Given the description of an element on the screen output the (x, y) to click on. 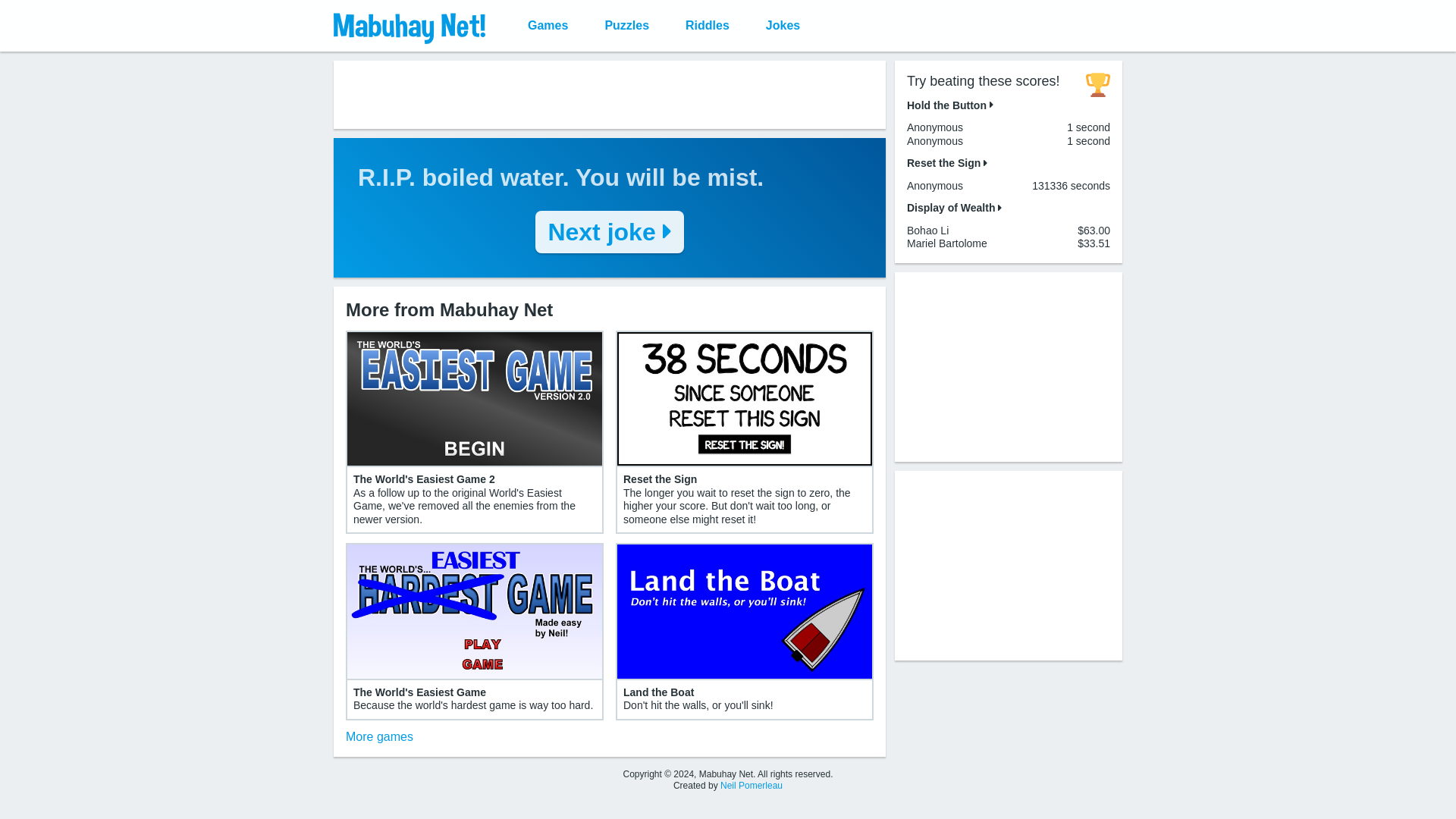
Reset the Sign (947, 162)
Games (547, 25)
Advertisement (1008, 565)
Puzzles (626, 25)
Riddles (707, 25)
The World's Easiest Game 2 (424, 479)
Next joke (608, 231)
Advertisement (1008, 366)
The World's Easiest Game (419, 692)
Hold the Button (949, 104)
